Given the description of an element on the screen output the (x, y) to click on. 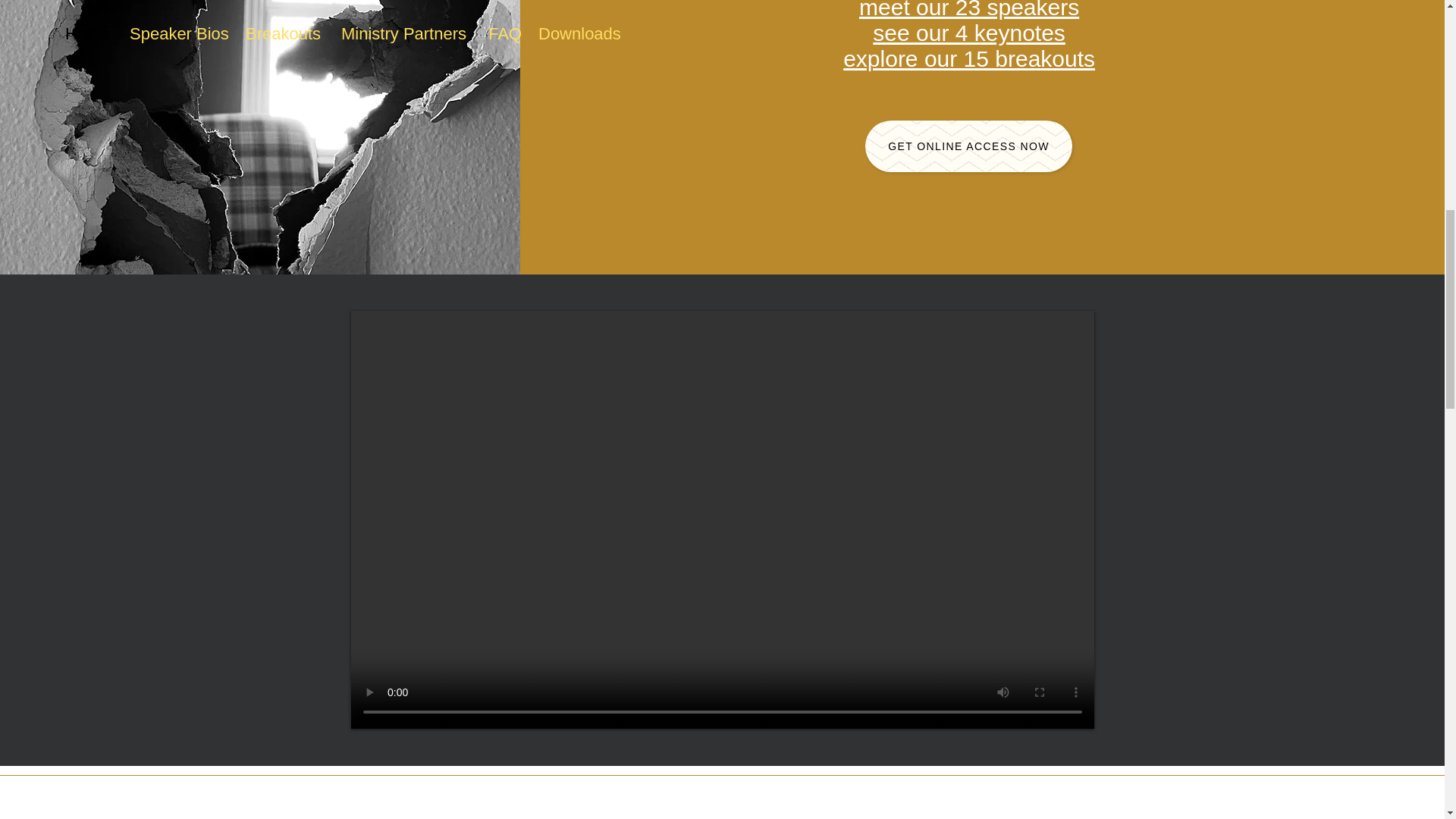
meet our 23 speakers (968, 9)
GET ONLINE ACCESS NOW (967, 145)
explore our 15 breakouts (968, 58)
see our 4 keynotes (968, 32)
